Given the description of an element on the screen output the (x, y) to click on. 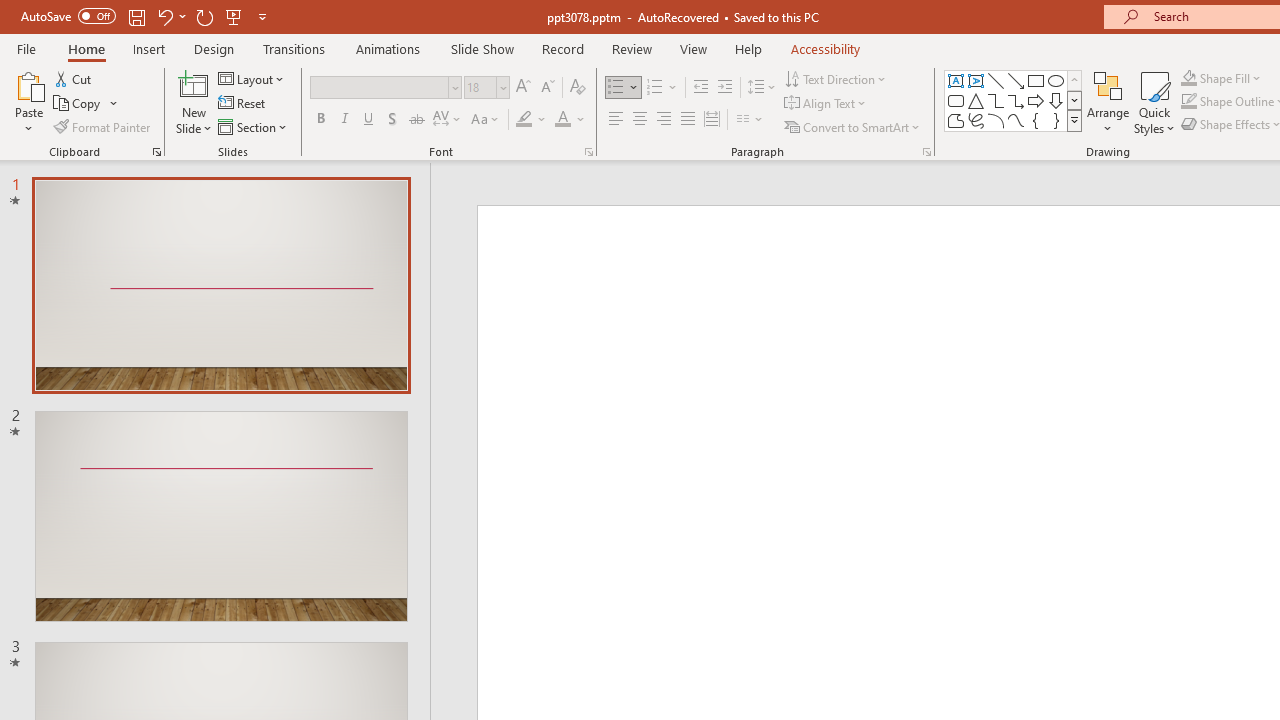
Shape Outline Green, Accent 1 (1188, 101)
